Given the description of an element on the screen output the (x, y) to click on. 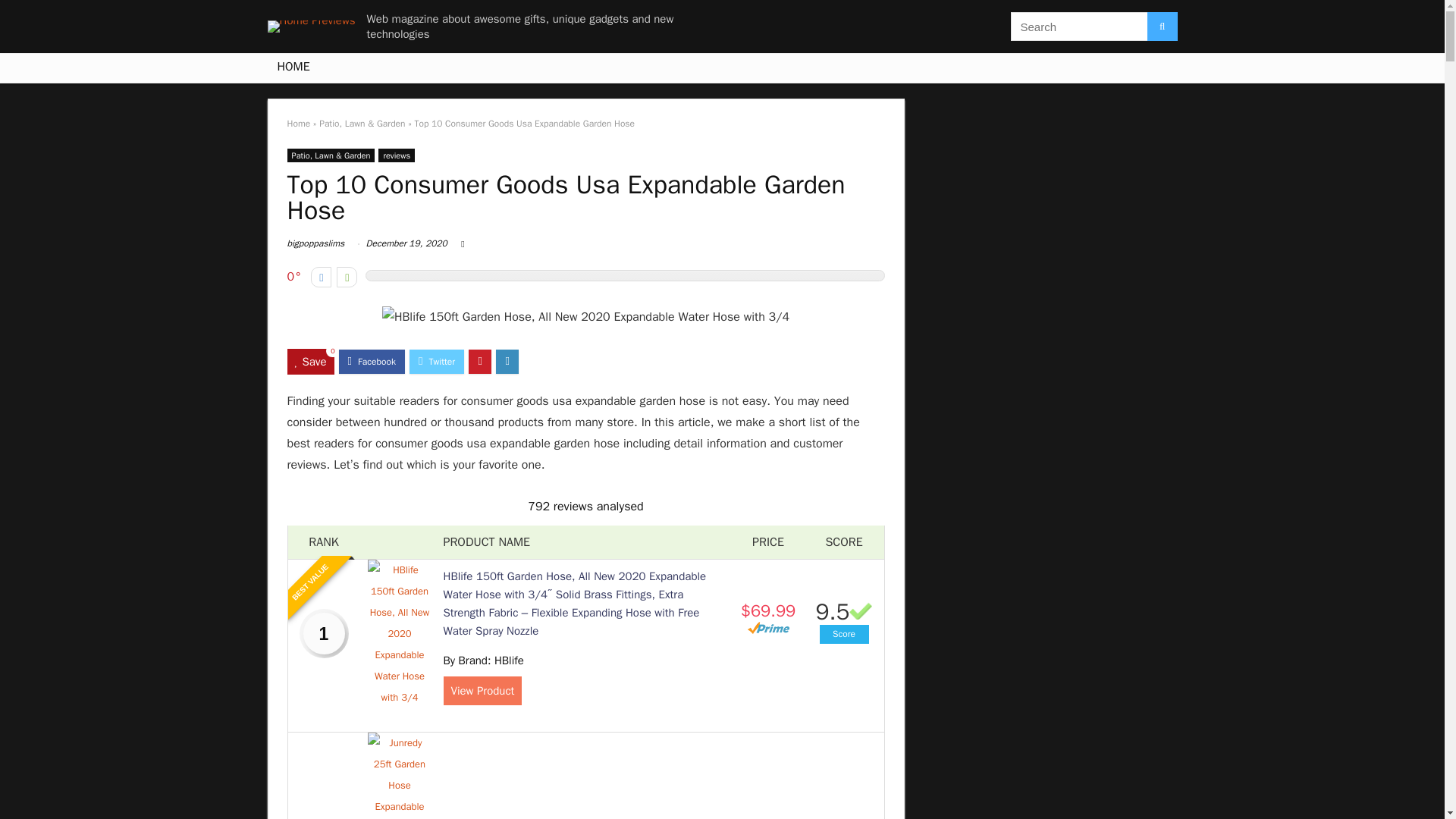
View all posts in reviews (396, 155)
Vote up (346, 276)
Vote down (321, 276)
By Brand: HBlife (482, 660)
bigpoppaslims (314, 243)
Home (298, 123)
HOME (292, 68)
reviews (396, 155)
View Product (481, 690)
